Given the description of an element on the screen output the (x, y) to click on. 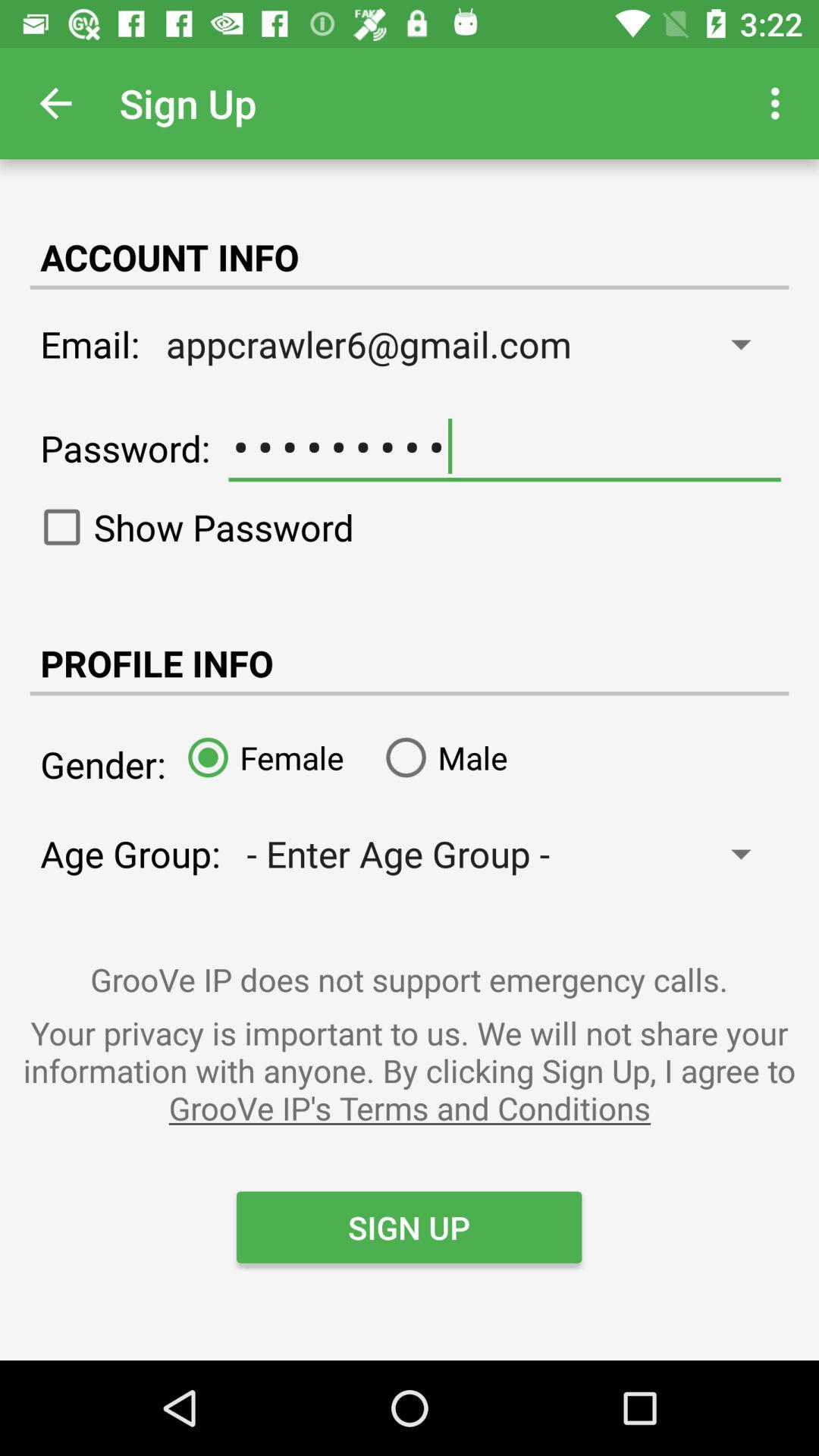
launch the male icon (440, 757)
